Given the description of an element on the screen output the (x, y) to click on. 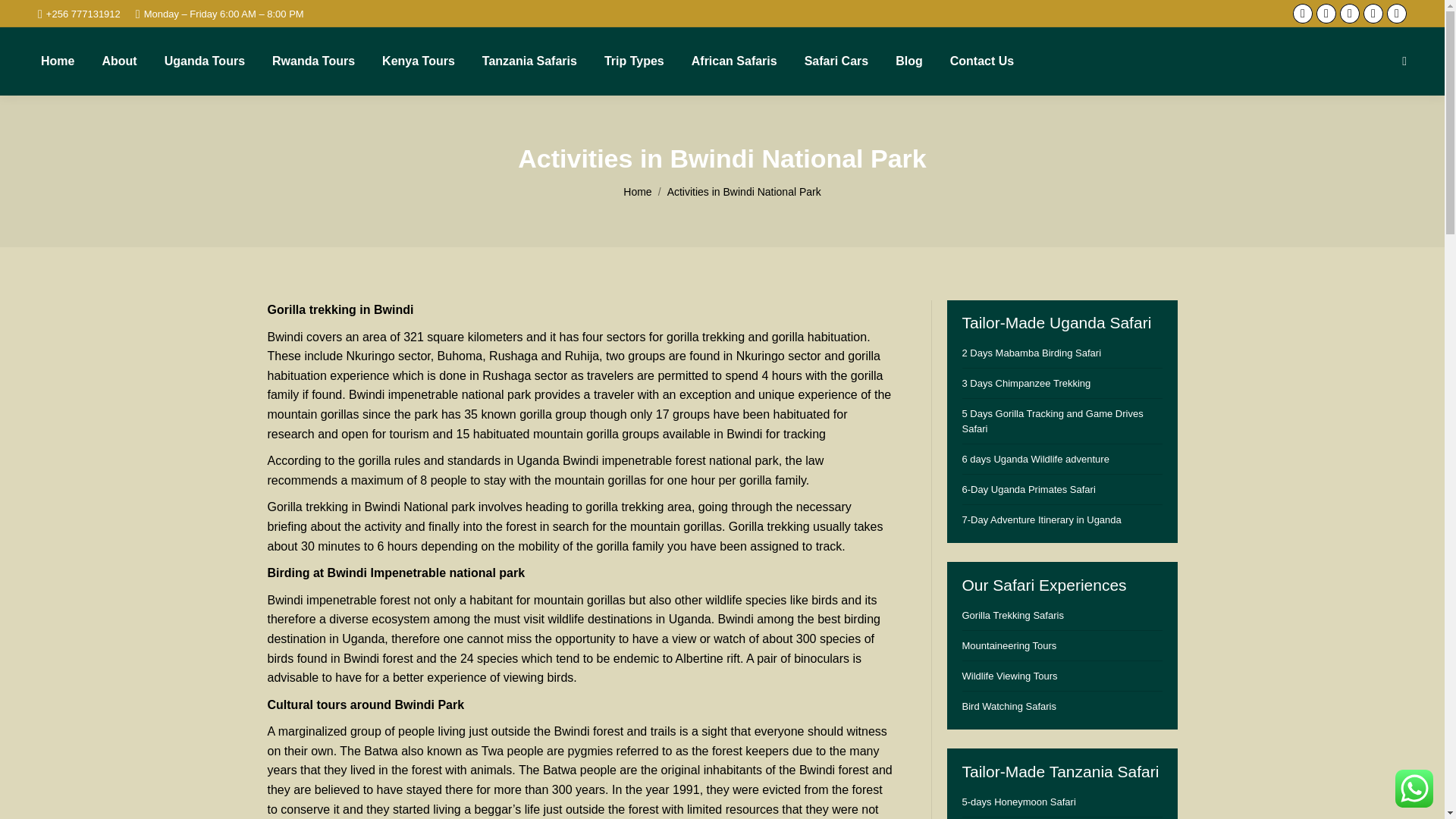
Instagram page opens in new window (1349, 13)
Home (57, 60)
Safari Cars (837, 60)
Uganda Tours (204, 60)
Twitter page opens in new window (1326, 13)
African Safaris (734, 60)
Rwanda Tours (313, 60)
Facebook page opens in new window (1302, 13)
TripAdvisor page opens in new window (1396, 13)
Contact Us (981, 60)
